Given the description of an element on the screen output the (x, y) to click on. 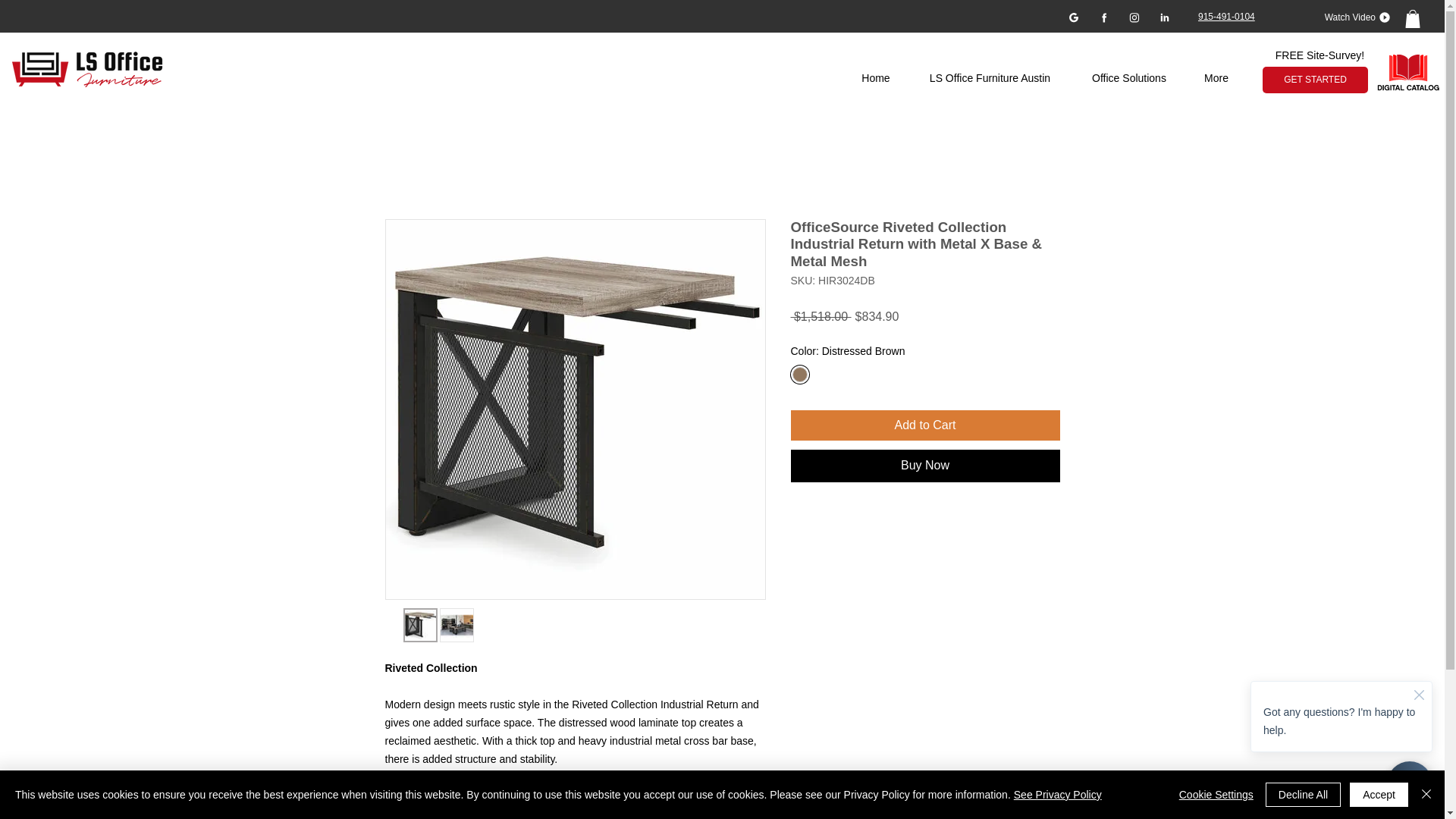
915-491-0104 (1226, 16)
Buy Now (924, 465)
Watch Video (1350, 16)
Home (875, 78)
Add to Cart (924, 425)
See Privacy Policy (1057, 794)
Office Solutions (1128, 78)
GET STARTED (1315, 79)
LS Office Furniture Austin (989, 78)
Digital Catalog (1409, 73)
Accept (1378, 794)
